Given the description of an element on the screen output the (x, y) to click on. 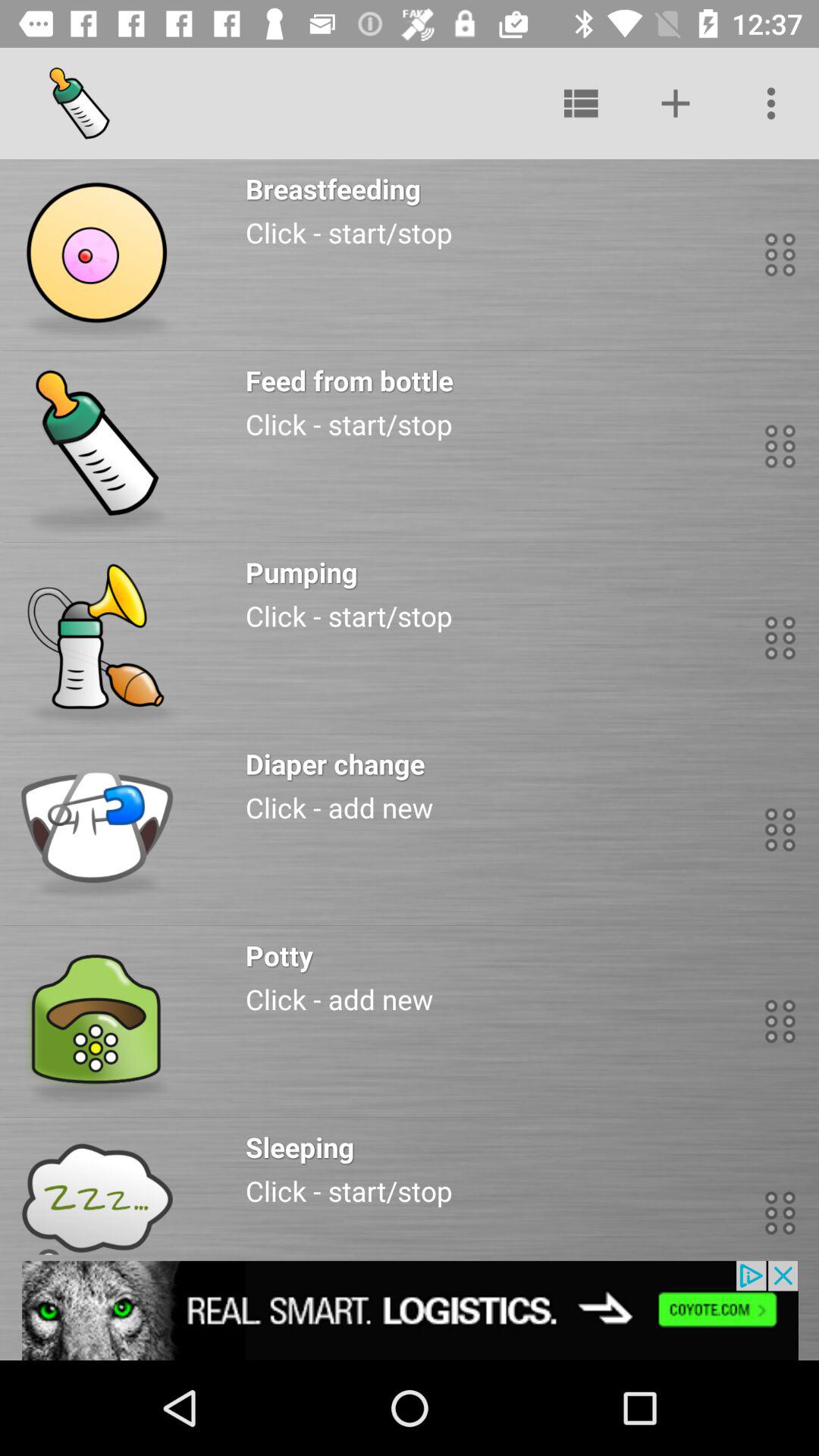
external advertisement (409, 1310)
